Given the description of an element on the screen output the (x, y) to click on. 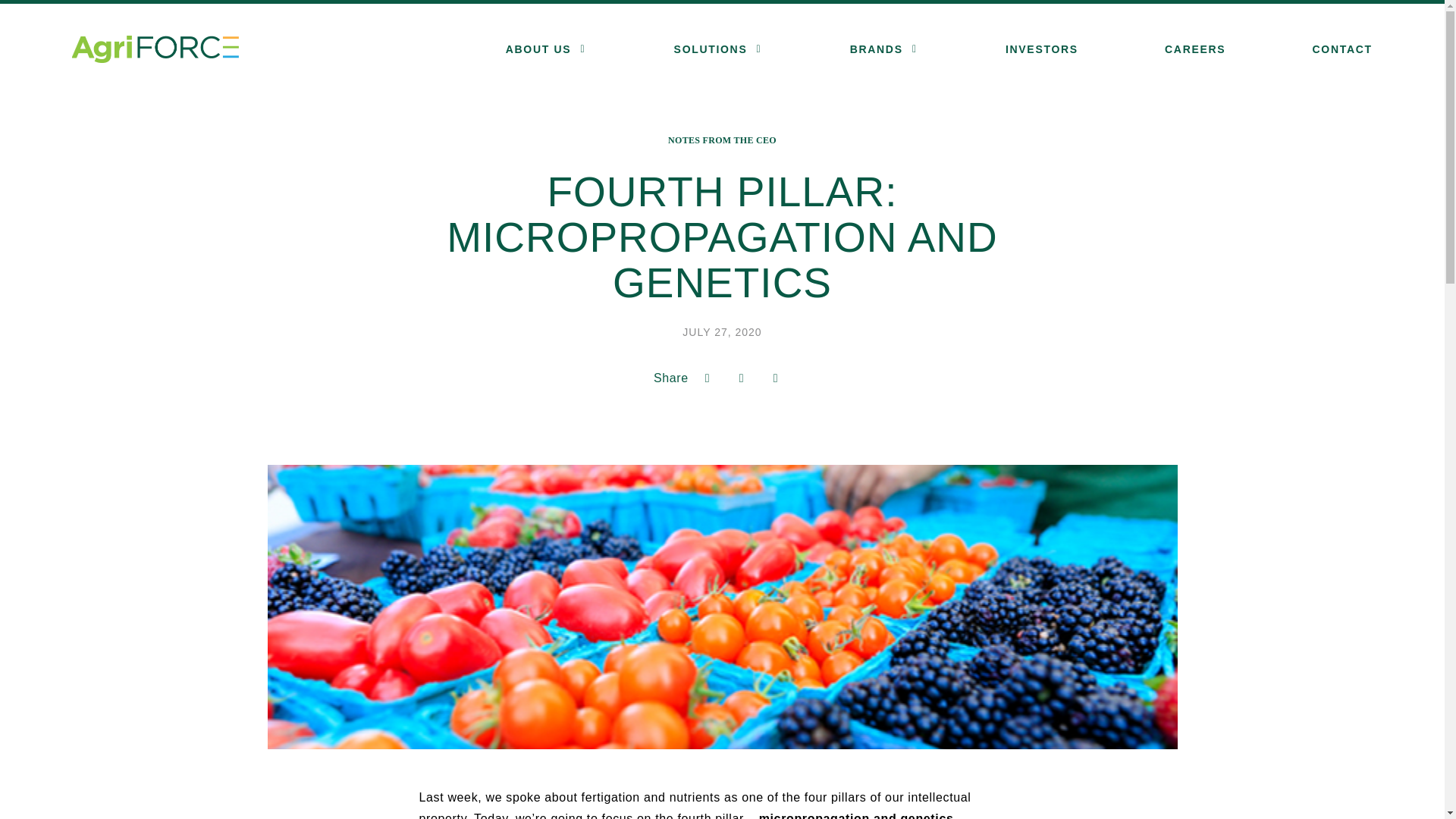
NOTES FROM THE CEO (722, 140)
SOLUTIONS (711, 48)
ABOUT US (538, 48)
INVESTORS (1042, 48)
CONTACT (1343, 48)
AgriFORCE (154, 49)
CAREERS (1194, 48)
BRANDS (876, 48)
